Given the description of an element on the screen output the (x, y) to click on. 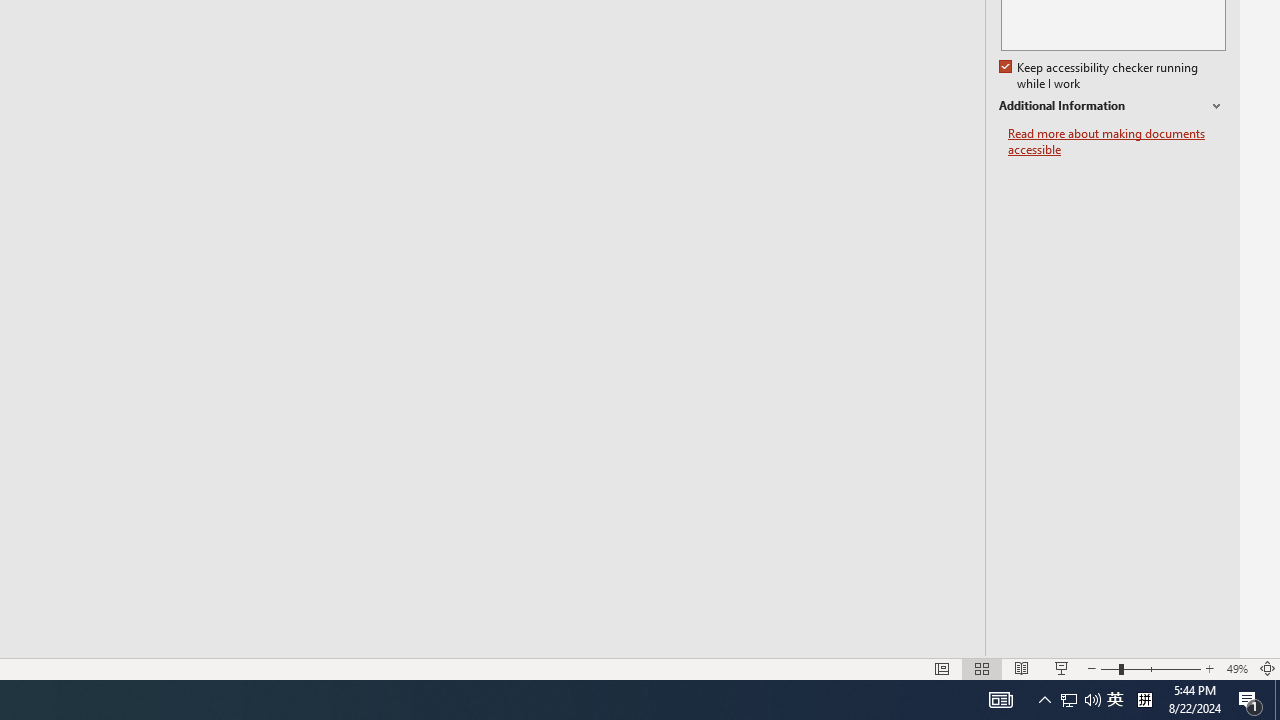
Keep accessibility checker running while I work (1099, 76)
Read more about making documents accessible (1117, 142)
Additional Information (1112, 106)
Zoom 49% (1236, 668)
